Given the description of an element on the screen output the (x, y) to click on. 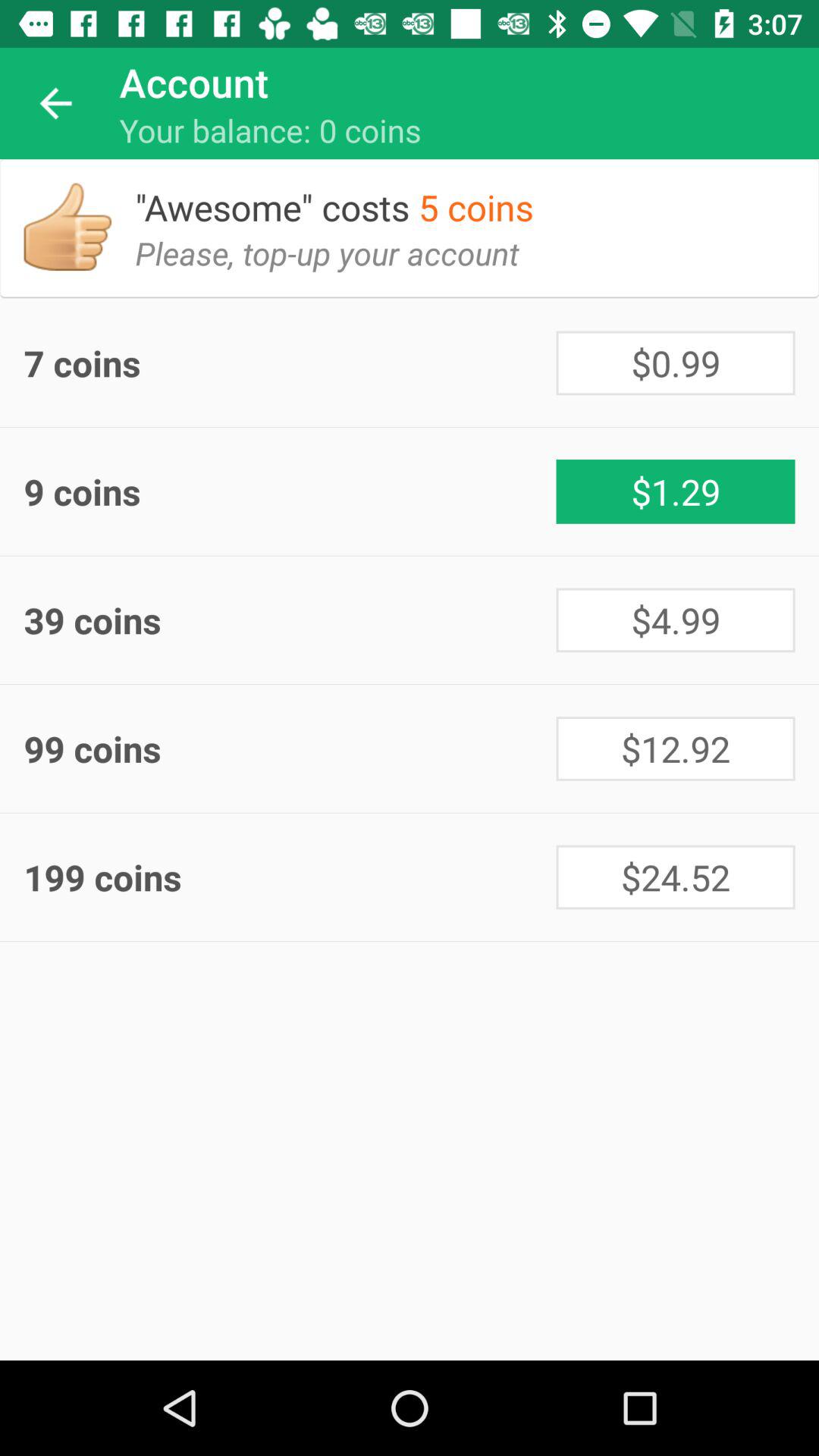
select item next to $1.29 (289, 491)
